Given the description of an element on the screen output the (x, y) to click on. 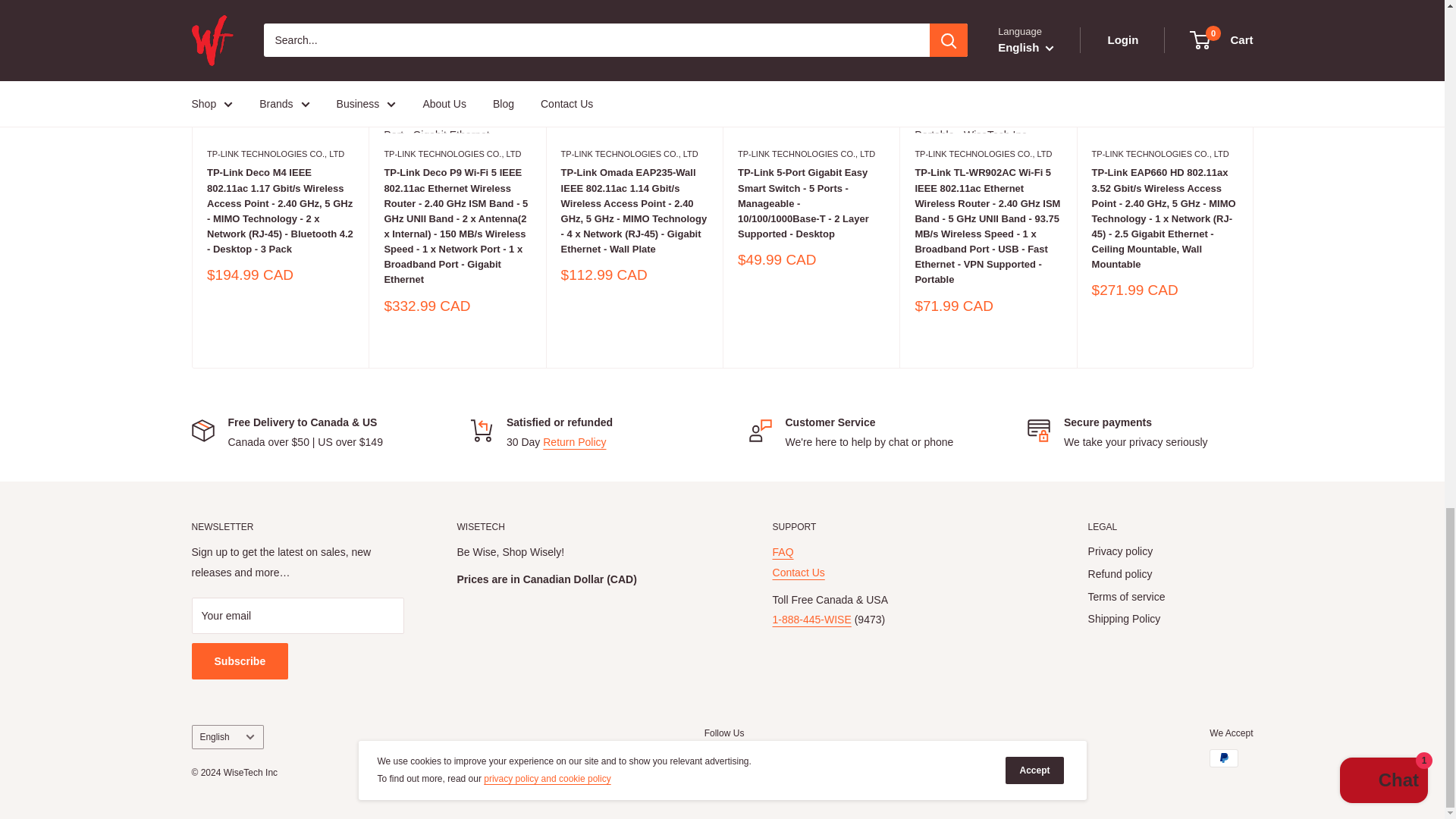
tel:18884459473 (812, 619)
Contact Us (799, 572)
Refund Policy (574, 441)
FAQ (783, 551)
